Given the description of an element on the screen output the (x, y) to click on. 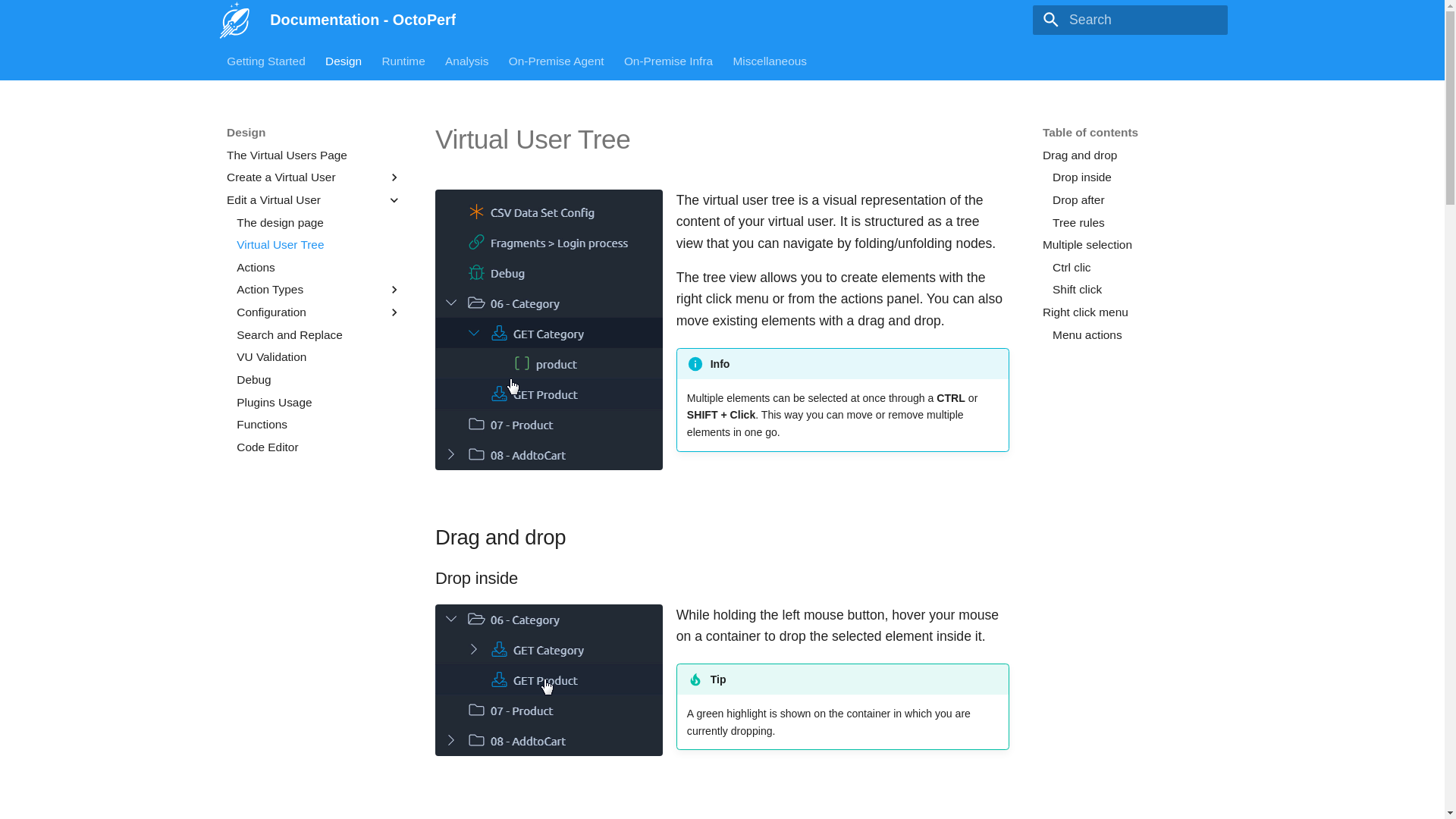
On-Premise Infra (668, 60)
Runtime (403, 60)
Analysis (466, 60)
On-Premise Agent (556, 60)
Miscellaneous (769, 60)
Design (342, 60)
Getting Started (266, 60)
Documentation - OctoPerf (234, 19)
The Virtual Users Page (314, 155)
